Given the description of an element on the screen output the (x, y) to click on. 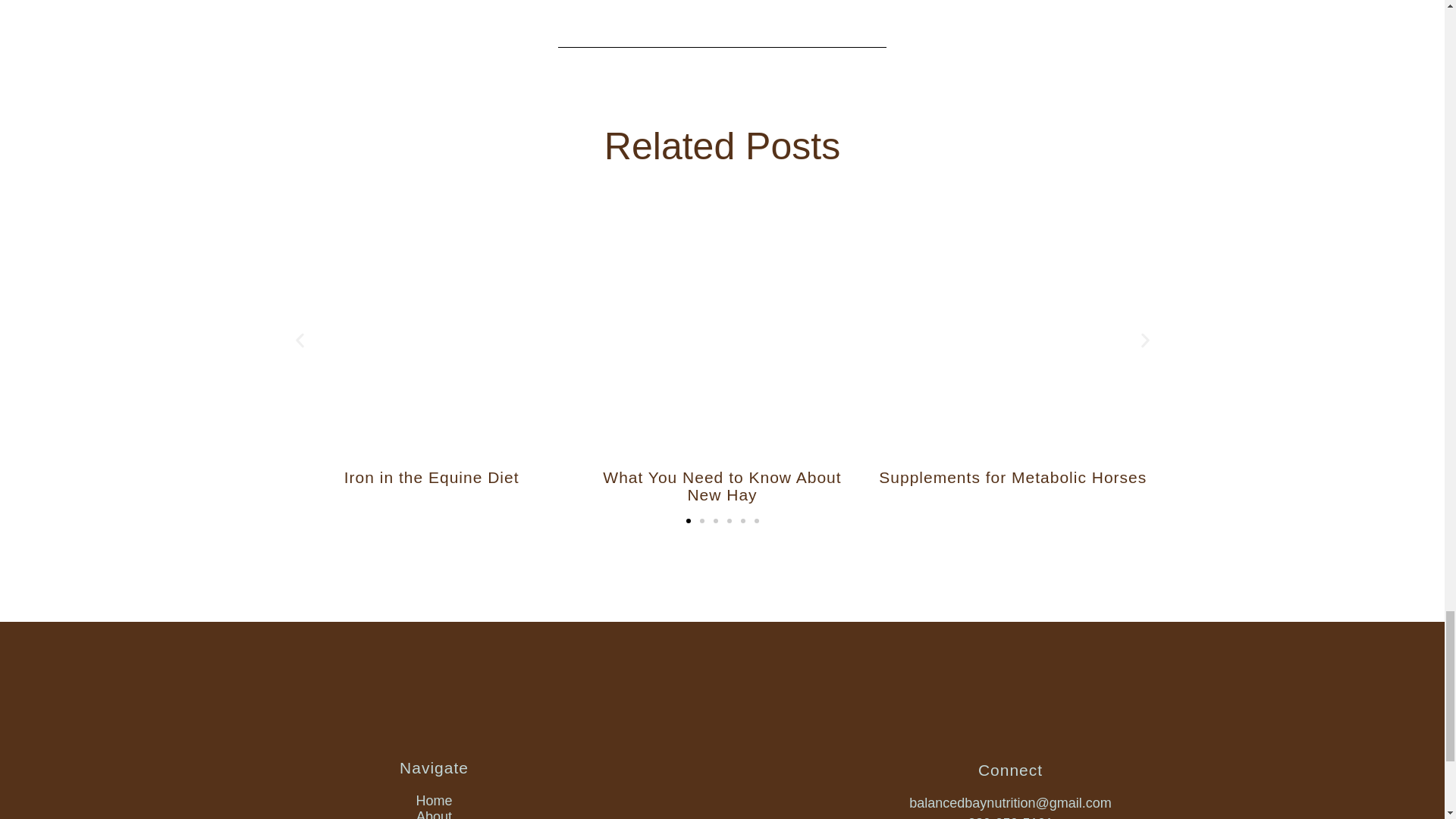
Supplements for Metabolic Horses (1013, 477)
What You Need to Know About New Hay (721, 485)
Iron in the Equine Diet (431, 477)
